Given the description of an element on the screen output the (x, y) to click on. 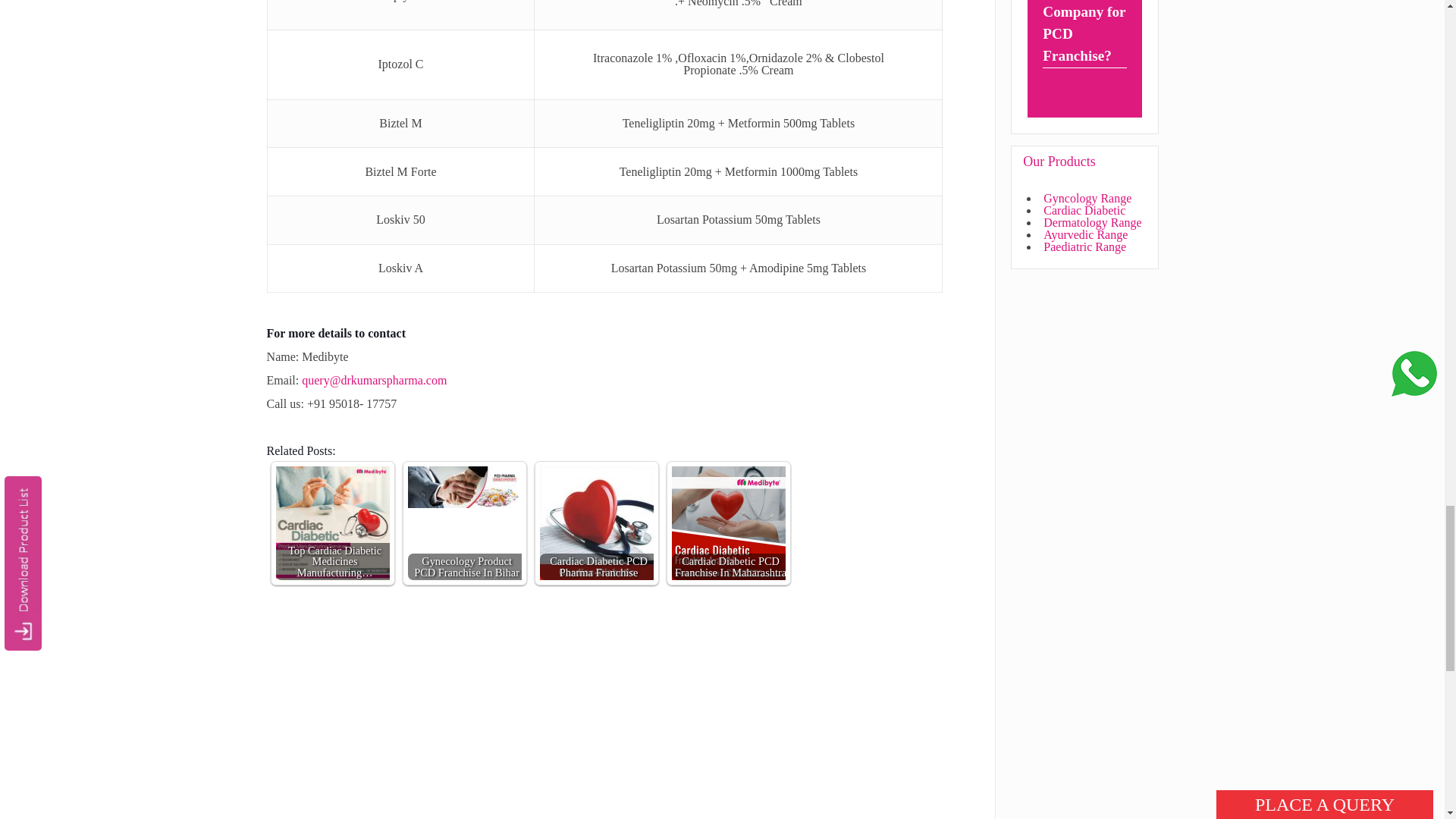
Cardiac Diabetic PCD Franchise In Maharashtra (728, 522)
Gynecology Product PCD Franchise In Bihar (464, 486)
Cardiac Diabetic PCD Pharma Franchise (596, 522)
